Given the description of an element on the screen output the (x, y) to click on. 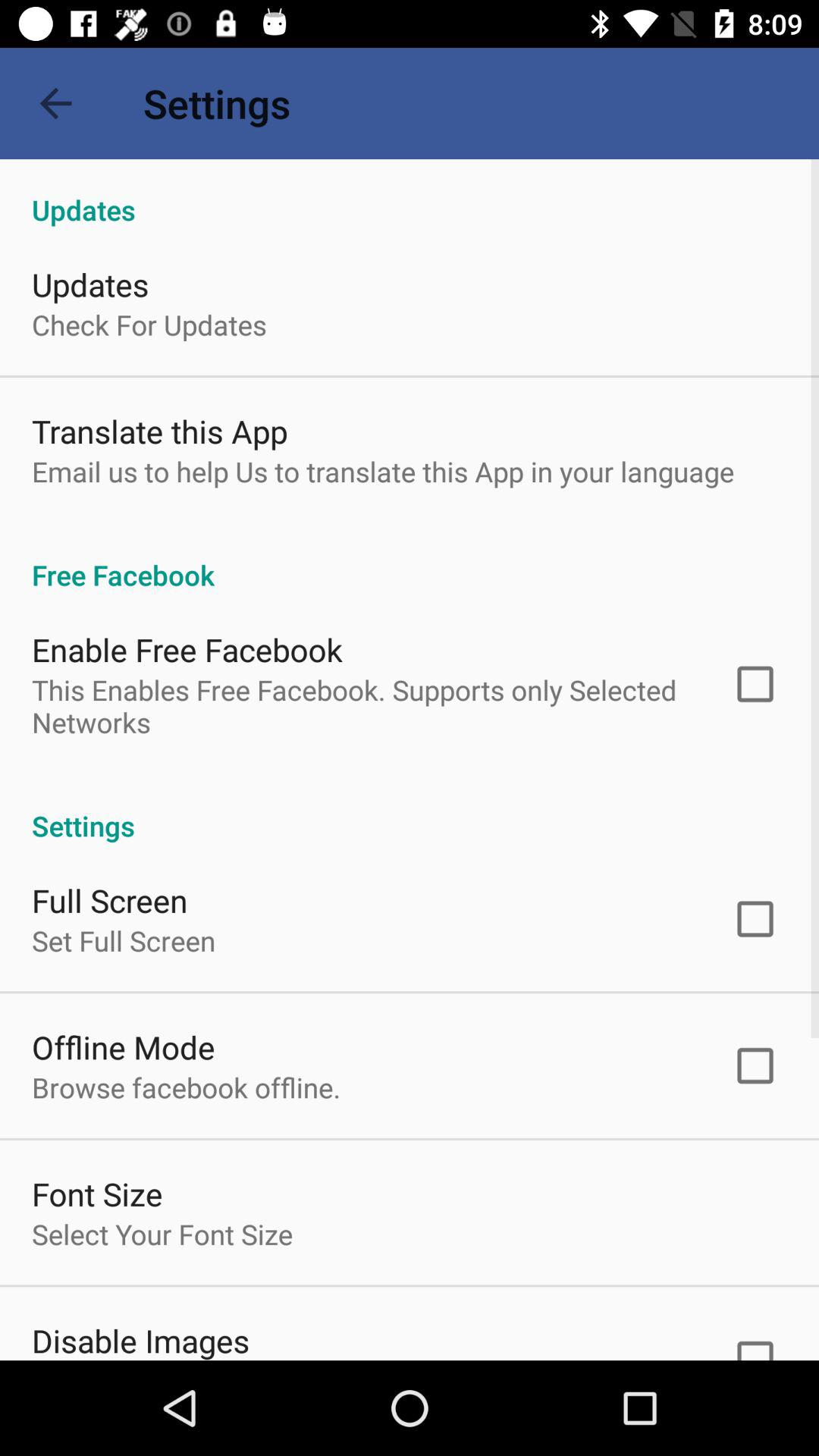
turn on the icon below the translate this app icon (382, 471)
